Given the description of an element on the screen output the (x, y) to click on. 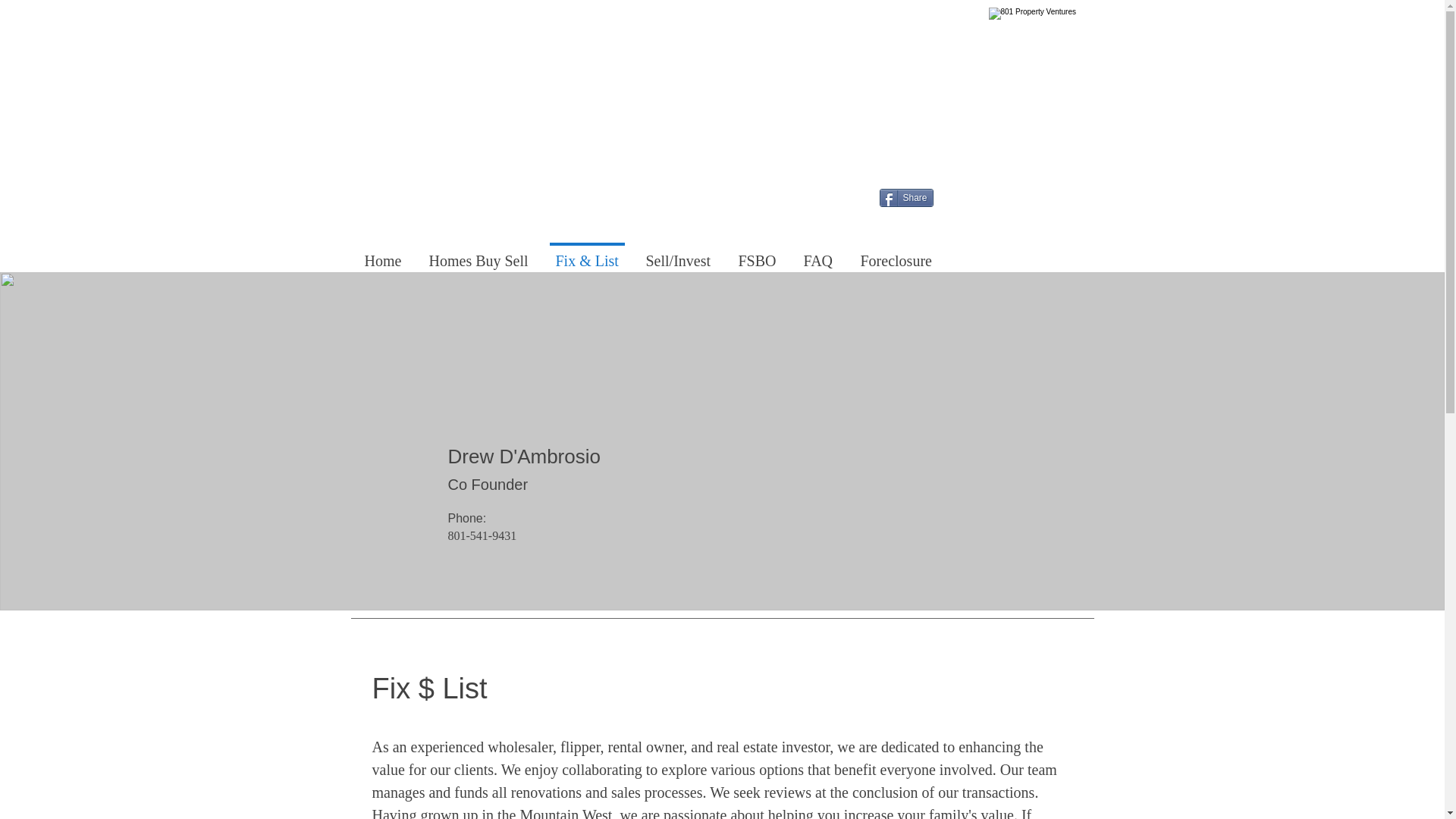
Homes Buy Sell (477, 253)
FAQ (818, 253)
FSBO (757, 253)
Foreclosure (894, 253)
Share (906, 198)
Facebook Like (973, 236)
Share (906, 198)
Home (382, 253)
